Given the description of an element on the screen output the (x, y) to click on. 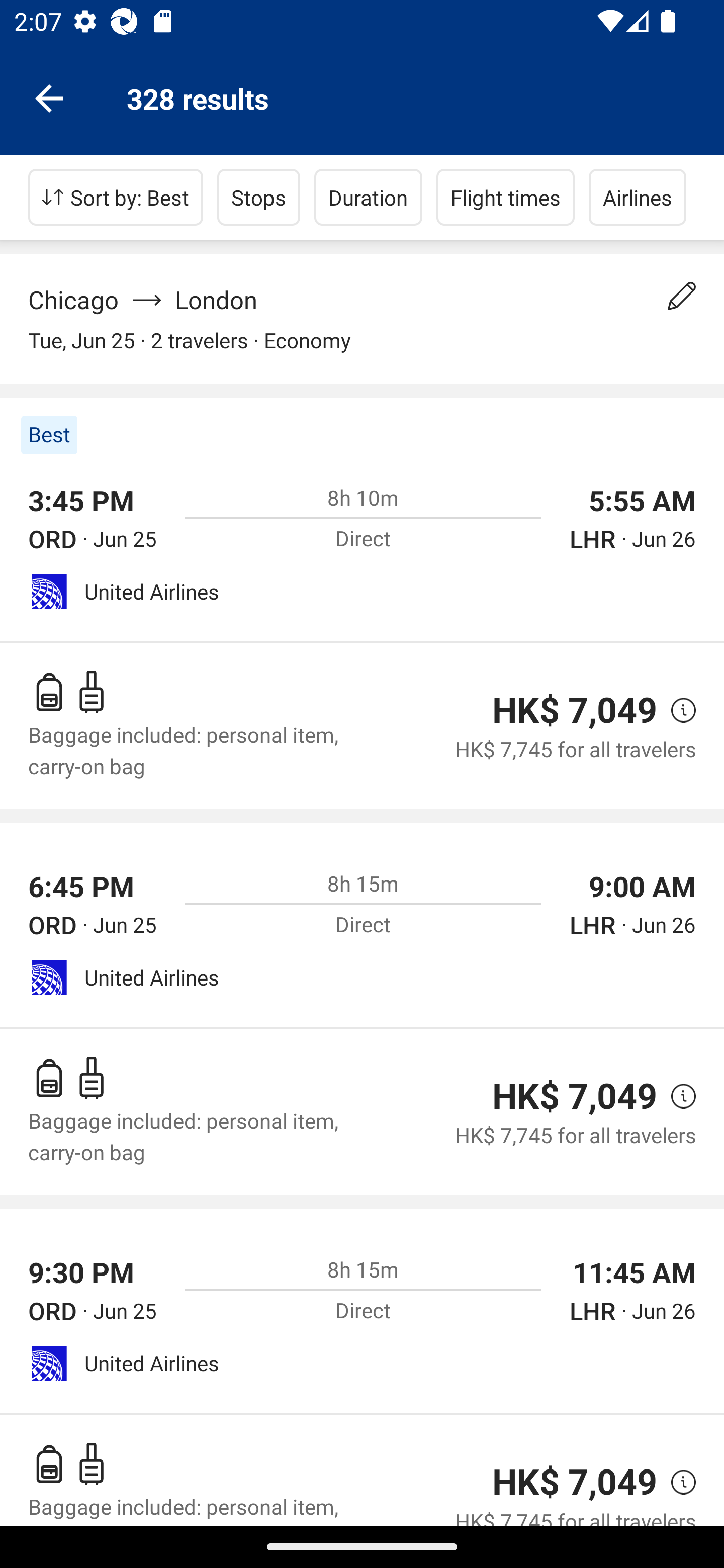
Navigate up (49, 97)
Sort by: Best (115, 197)
Stops (258, 197)
Duration (368, 197)
Flight times (505, 197)
Airlines (637, 197)
Change your search details (681, 296)
HK$ 7,049 (574, 710)
view price details, opens a pop-up (676, 709)
HK$ 7,049 (574, 1095)
view price details, opens a pop-up (676, 1095)
HK$ 7,049 (574, 1481)
view price details, opens a pop-up (676, 1482)
